Given the description of an element on the screen output the (x, y) to click on. 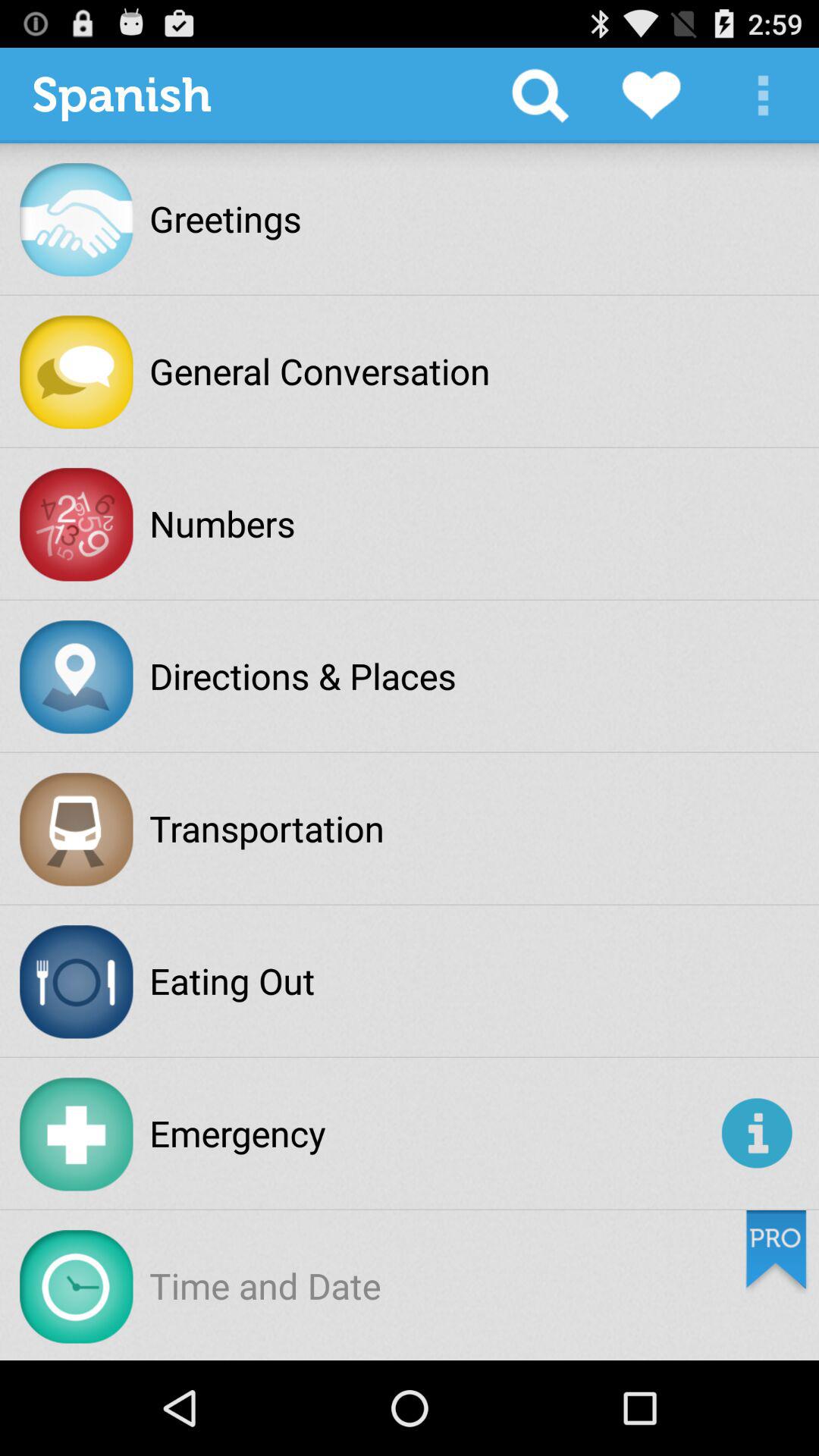
scroll to greetings (225, 218)
